Given the description of an element on the screen output the (x, y) to click on. 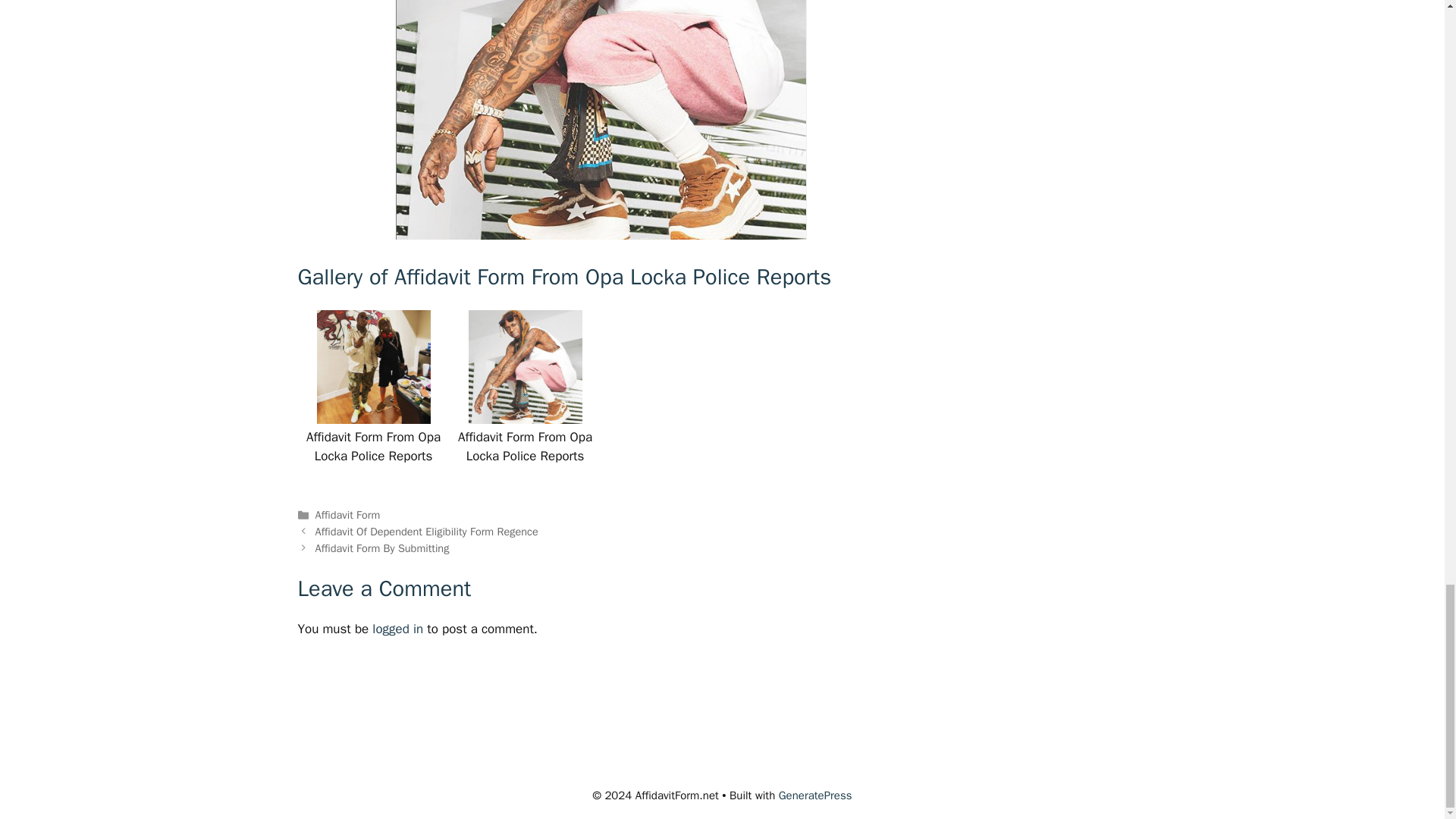
Affidavit Of Dependent Eligibility Form Regence (426, 531)
logged in (397, 628)
Affidavit Form By Submitting (382, 548)
Affidavit Form (347, 514)
